Given the description of an element on the screen output the (x, y) to click on. 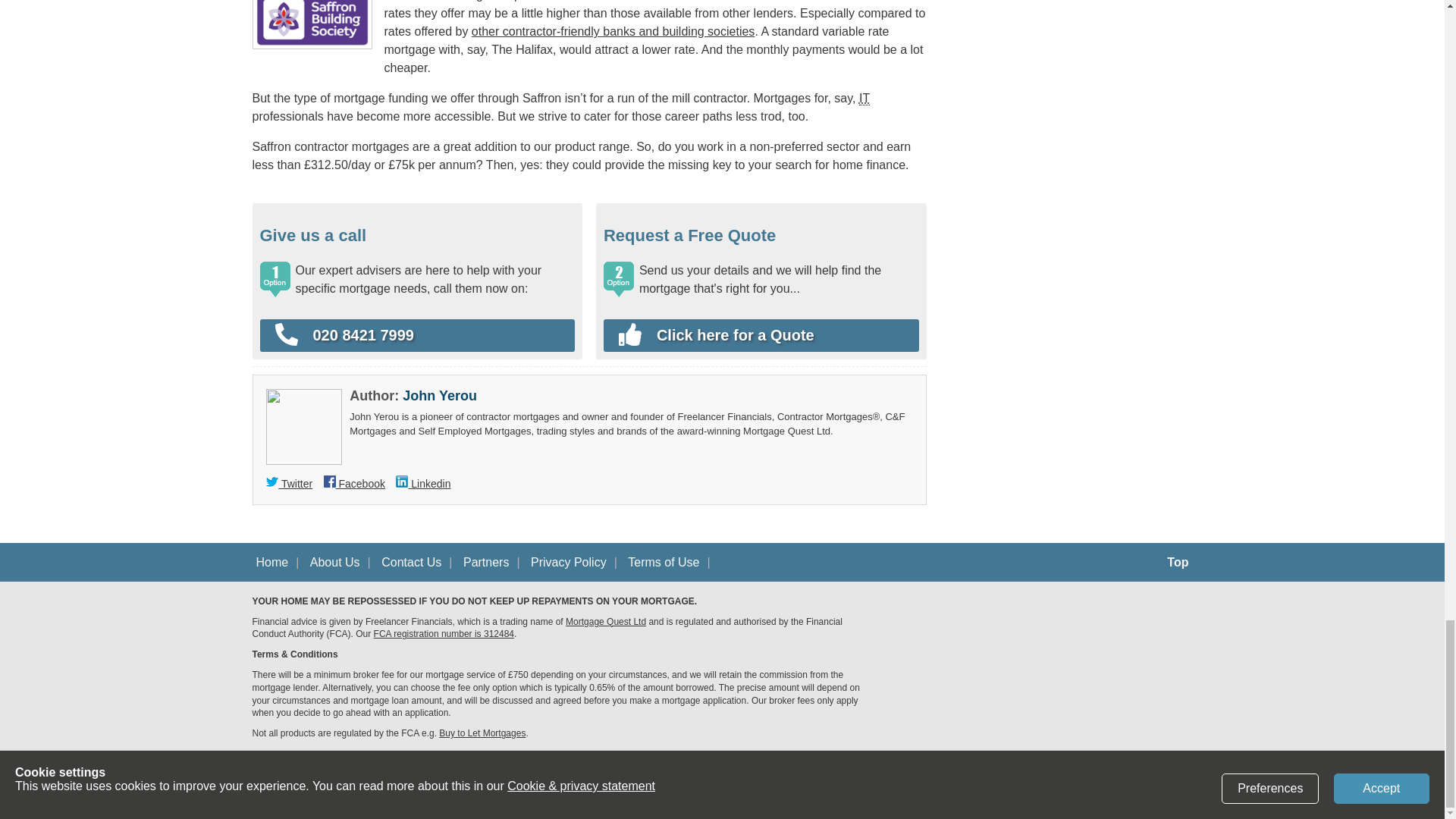
other contractor-friendly banks and building societies (613, 31)
Call us: 02084217999 (417, 335)
Click here for a Quote (754, 334)
Who Are The Best Contractor Mortgage Lenders? (613, 31)
John Yerou (440, 395)
020 8421 7999 (417, 335)
Linkedin (422, 483)
Facebook (354, 483)
Twitter (289, 483)
